Given the description of an element on the screen output the (x, y) to click on. 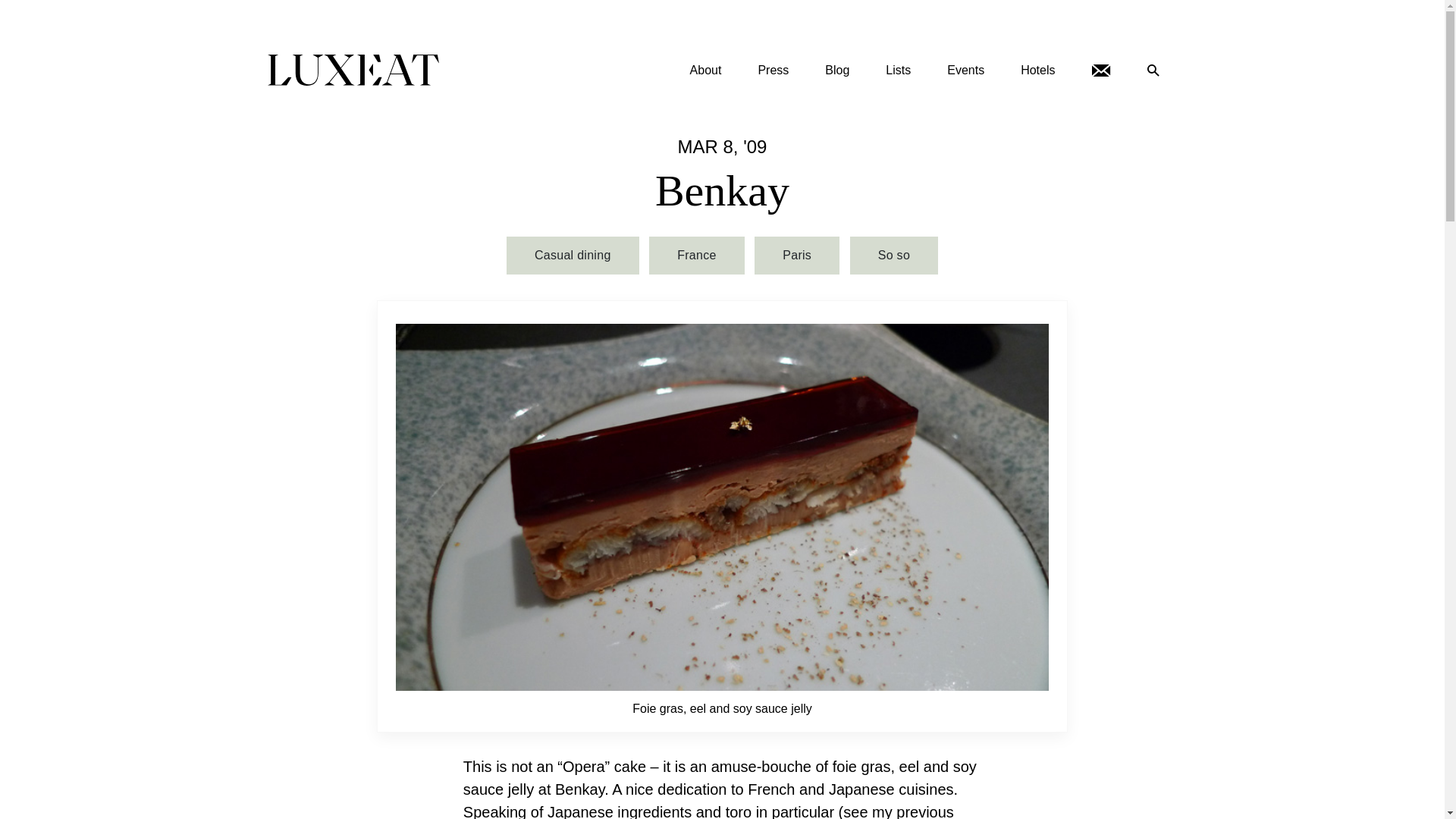
About (705, 69)
Events (965, 69)
Contact me (1101, 69)
So so (893, 255)
Lists (897, 69)
Blog (836, 69)
Casual dining (572, 255)
Hotels (1038, 69)
Paris (797, 255)
France (696, 255)
Press (772, 69)
